Given the description of an element on the screen output the (x, y) to click on. 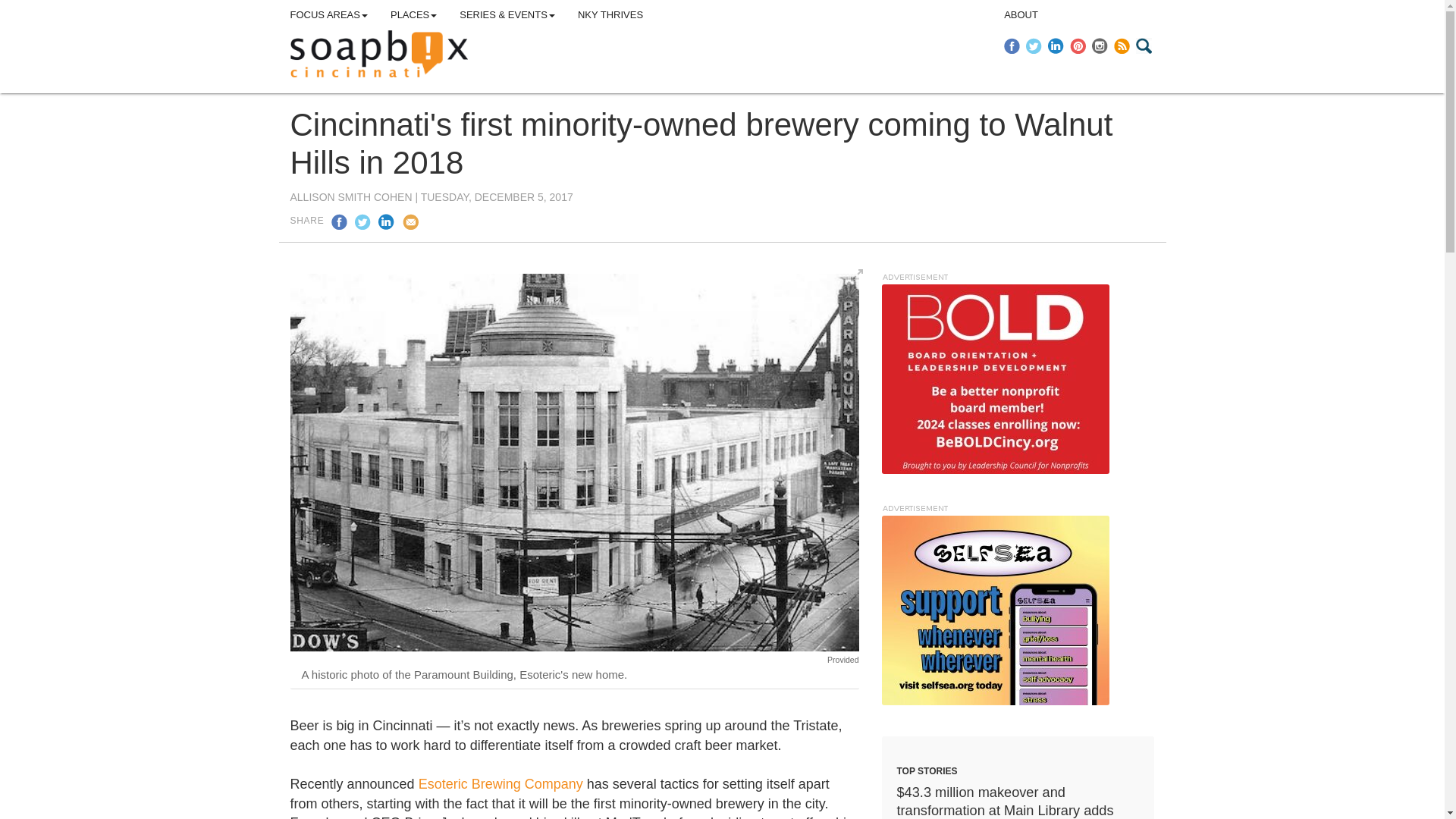
FOCUS AREAS (328, 15)
Subscribe to the Soapbox RSS feed! (1122, 45)
View full-screen (856, 275)
PLACES (413, 15)
